Given the description of an element on the screen output the (x, y) to click on. 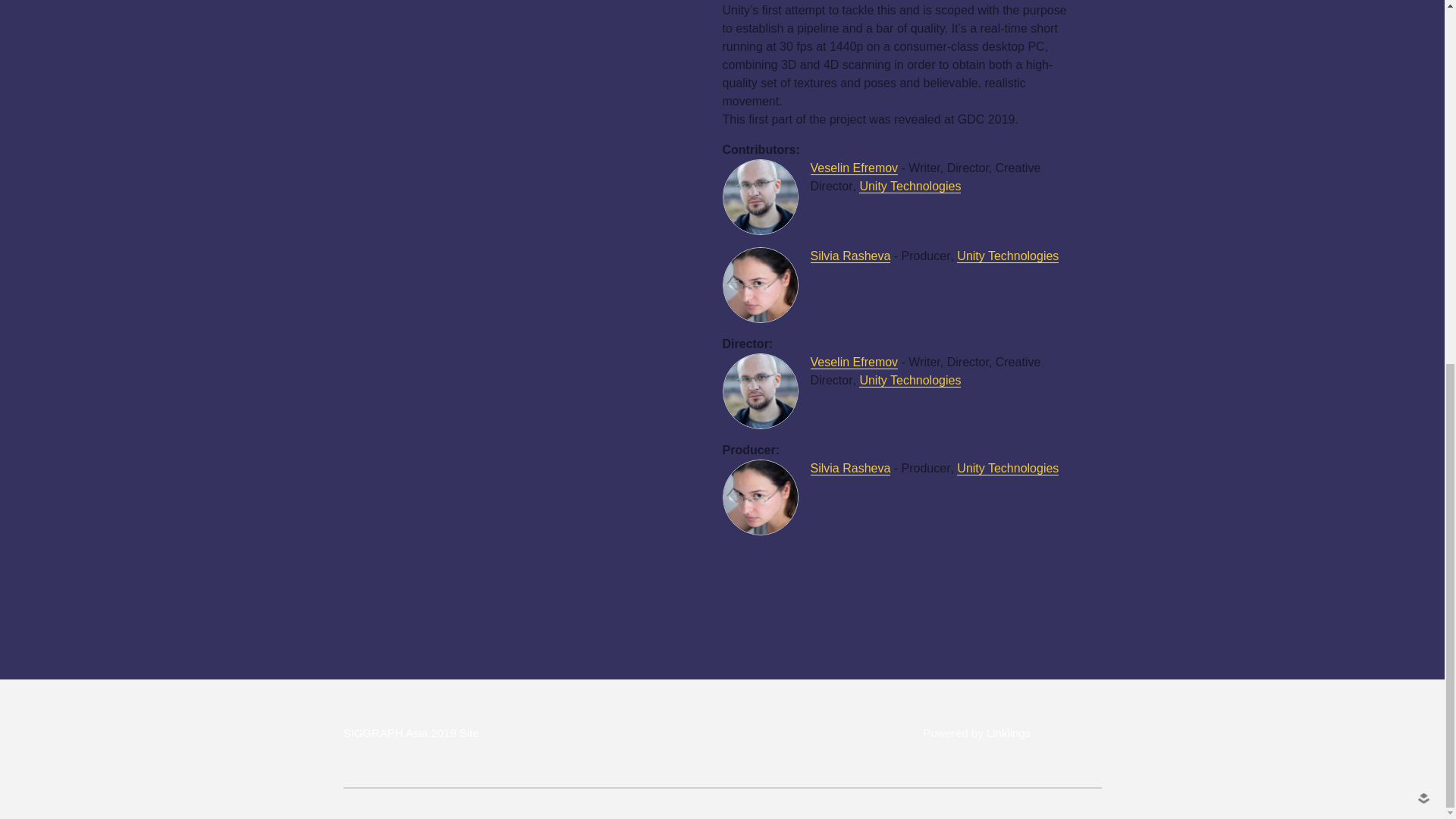
Unity Technologies (1007, 468)
Linklings (1008, 732)
Unity Technologies (909, 380)
Silvia Rasheva (849, 255)
Veselin Efremov (853, 168)
Unity Technologies (1007, 255)
Silvia Rasheva (849, 468)
Veselin Efremov (853, 362)
SIGGRAPH Asia 2019 Site (410, 732)
Unity Technologies (909, 186)
